Given the description of an element on the screen output the (x, y) to click on. 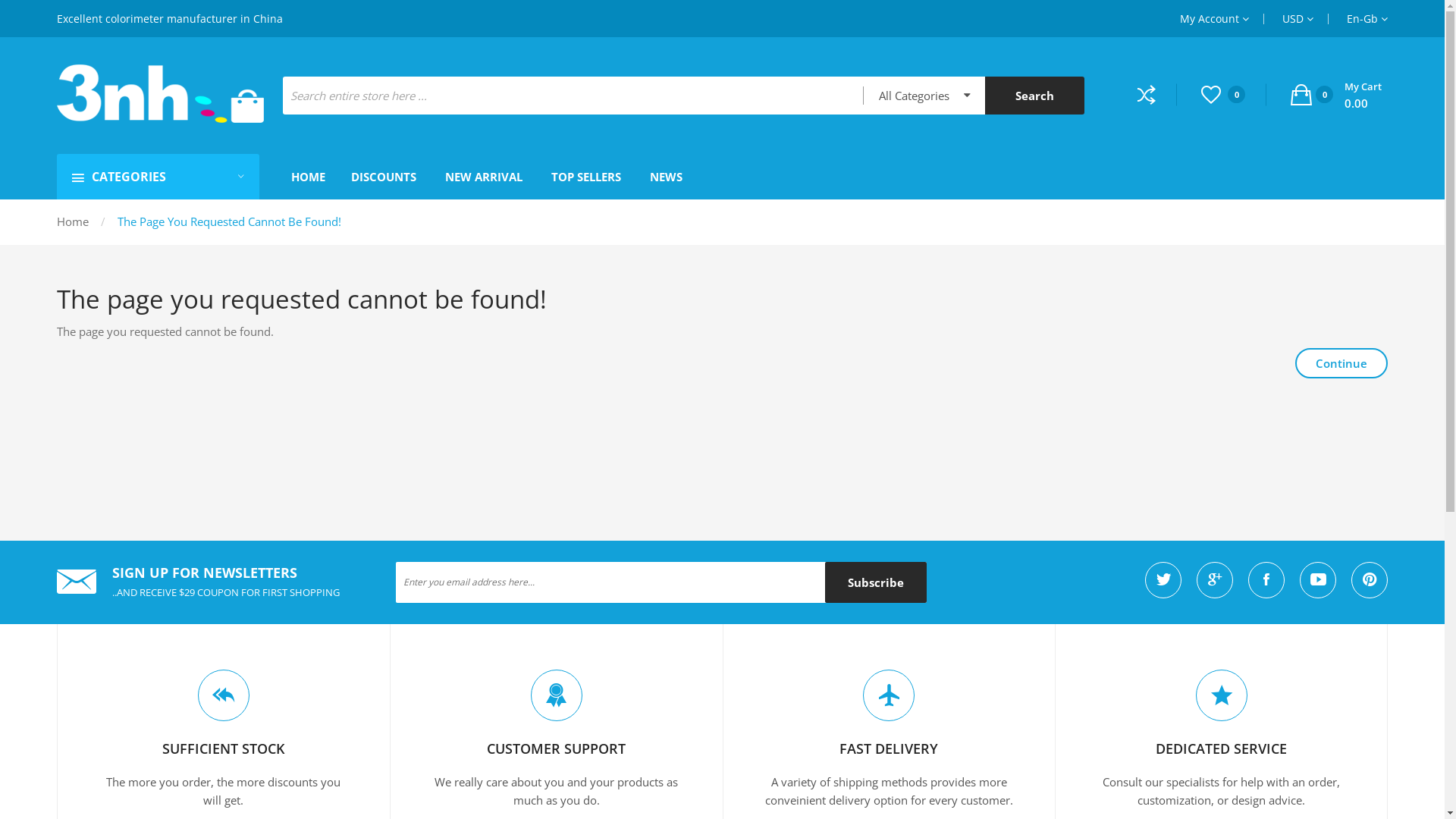
0My Cart
0.00 Element type: text (1335, 95)
Subscribe Element type: text (875, 581)
DISCOUNTS Element type: text (383, 176)
The Page You Requested Cannot Be Found! Element type: text (229, 221)
Flickr Element type: hover (1369, 579)
En-Gb Element type: text (1366, 18)
3NH SHOP Element type: hover (159, 93)
Compare Element type: hover (1156, 94)
Youtube Element type: hover (1317, 579)
0 Element type: text (1233, 94)
NEWS Element type: text (665, 176)
Google Element type: hover (1214, 579)
USD Element type: text (1297, 18)
Home Element type: text (72, 221)
TOP SELLERS Element type: text (586, 176)
Search Element type: text (1034, 95)
HOME Element type: text (308, 176)
My Account Element type: text (1213, 18)
Facebook Element type: hover (1266, 579)
Continue Element type: text (1341, 363)
NEW ARRIVAL Element type: text (483, 176)
Twitter Element type: hover (1163, 579)
